Given the description of an element on the screen output the (x, y) to click on. 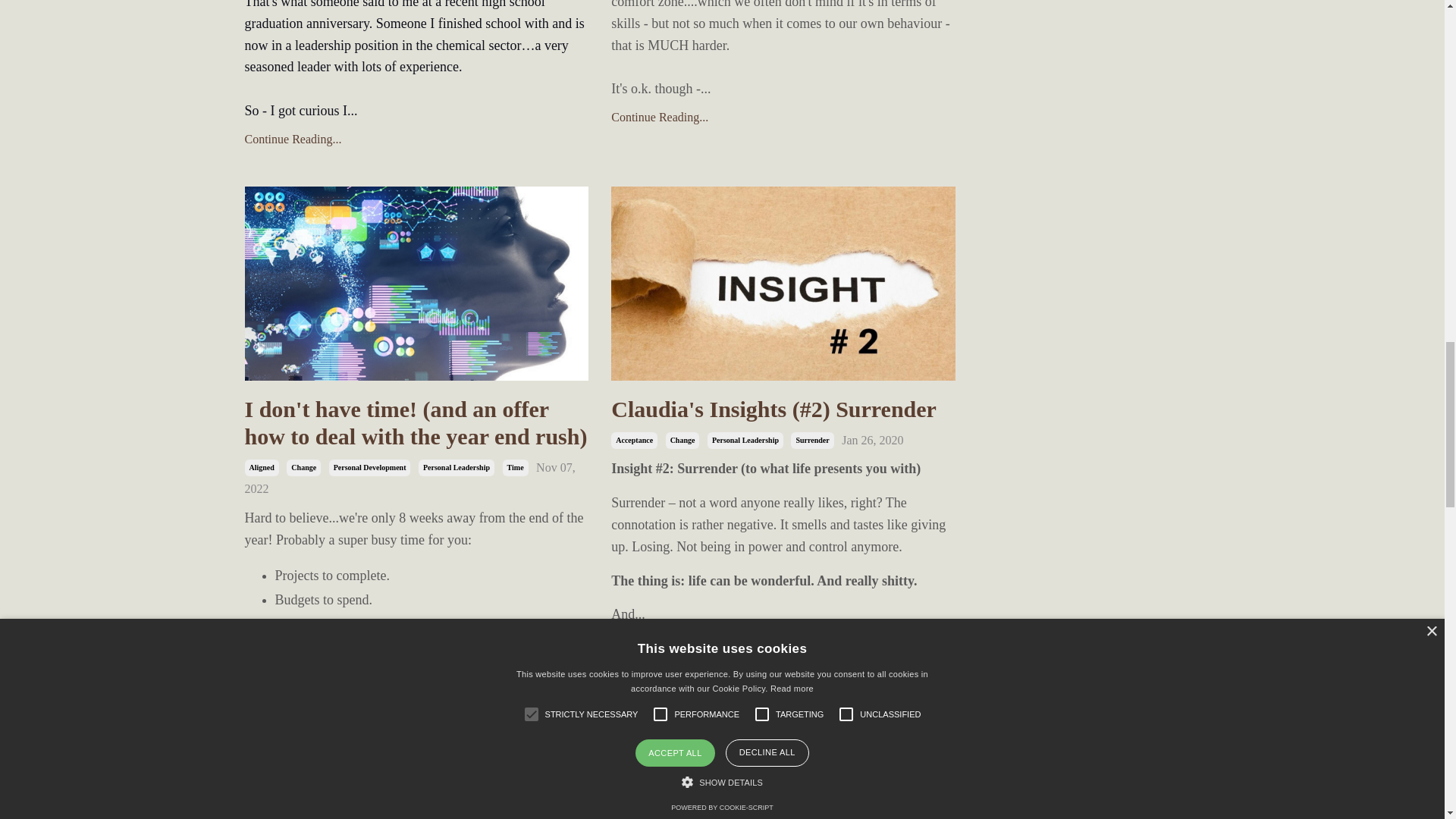
Personal Development (369, 467)
Continue Reading... (783, 117)
Change (303, 467)
Personal Leadership (457, 467)
Continue Reading... (416, 139)
Aligned (261, 467)
